Given the description of an element on the screen output the (x, y) to click on. 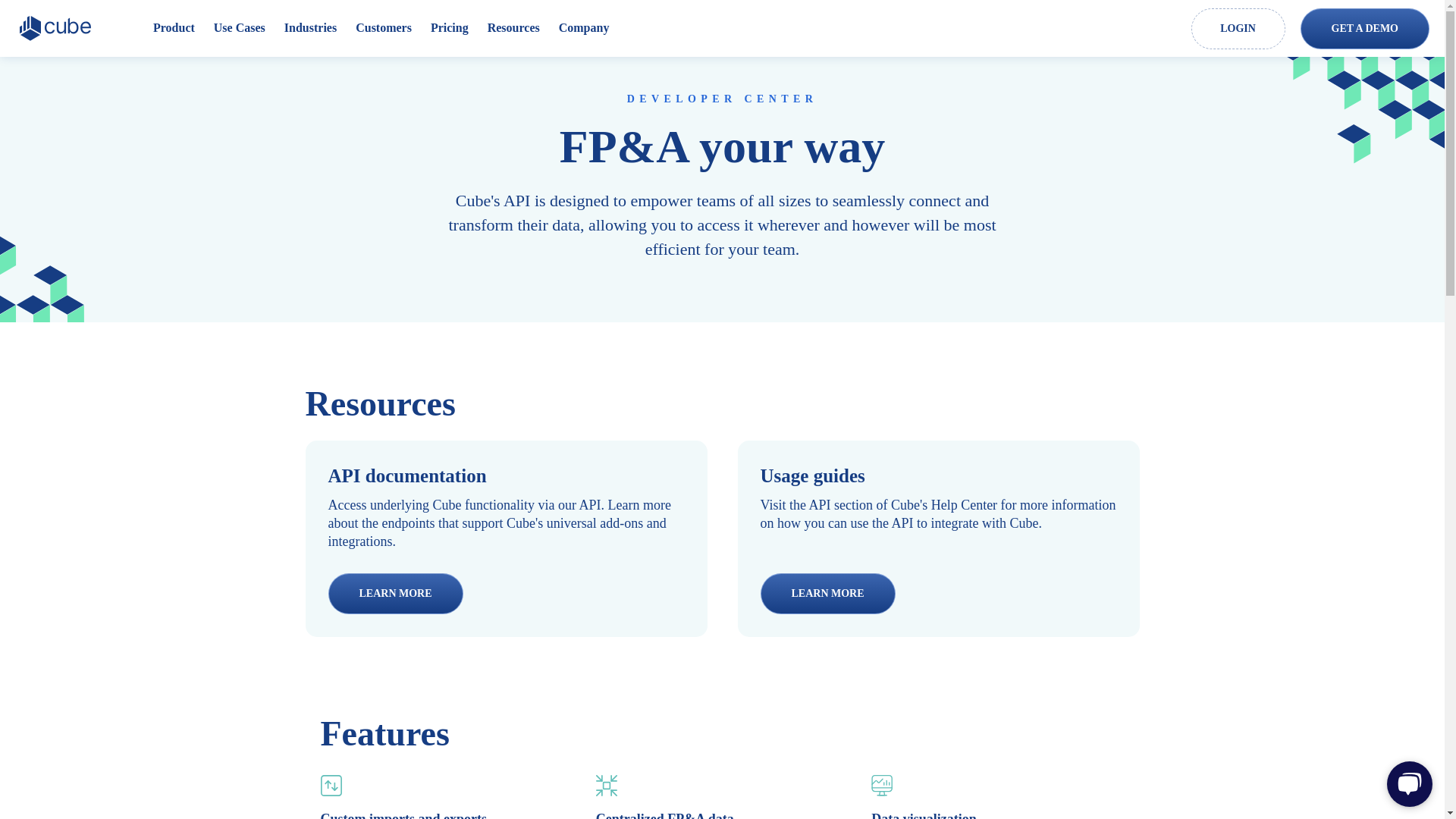
Pricing (449, 28)
Cube Software (58, 28)
